Given the description of an element on the screen output the (x, y) to click on. 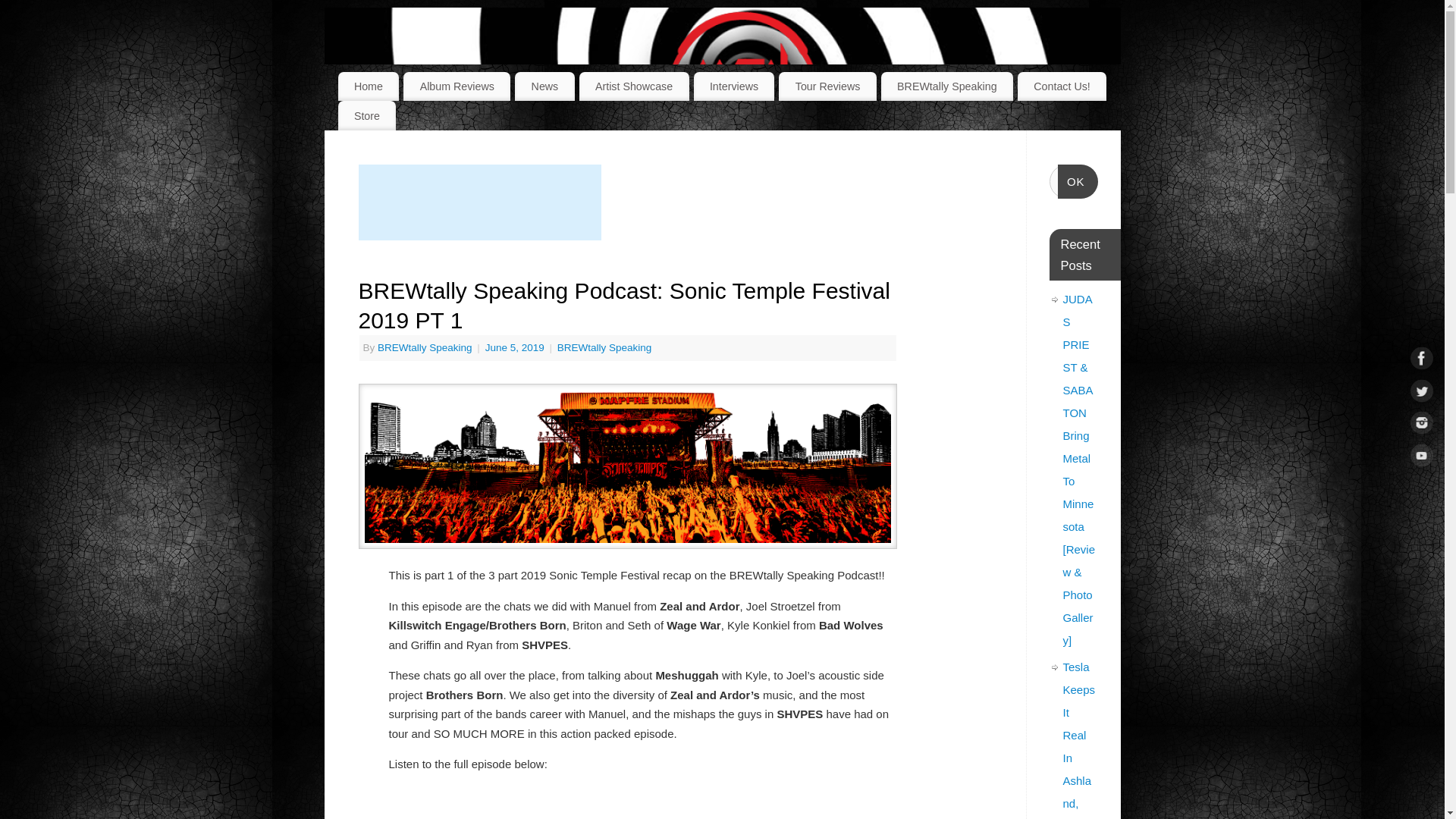
Advertisement (478, 202)
BREWtally Speaking (946, 86)
Tour Reviews (827, 86)
OK (1077, 181)
Sonic Temple 2019 Part 1 by BREWtally Speaking Podcast (627, 802)
View all posts by BREWtally Speaking (424, 347)
June 5, 2019 (515, 347)
BREWtally Speaking (424, 347)
News (544, 86)
1:53 pm (515, 347)
